Given the description of an element on the screen output the (x, y) to click on. 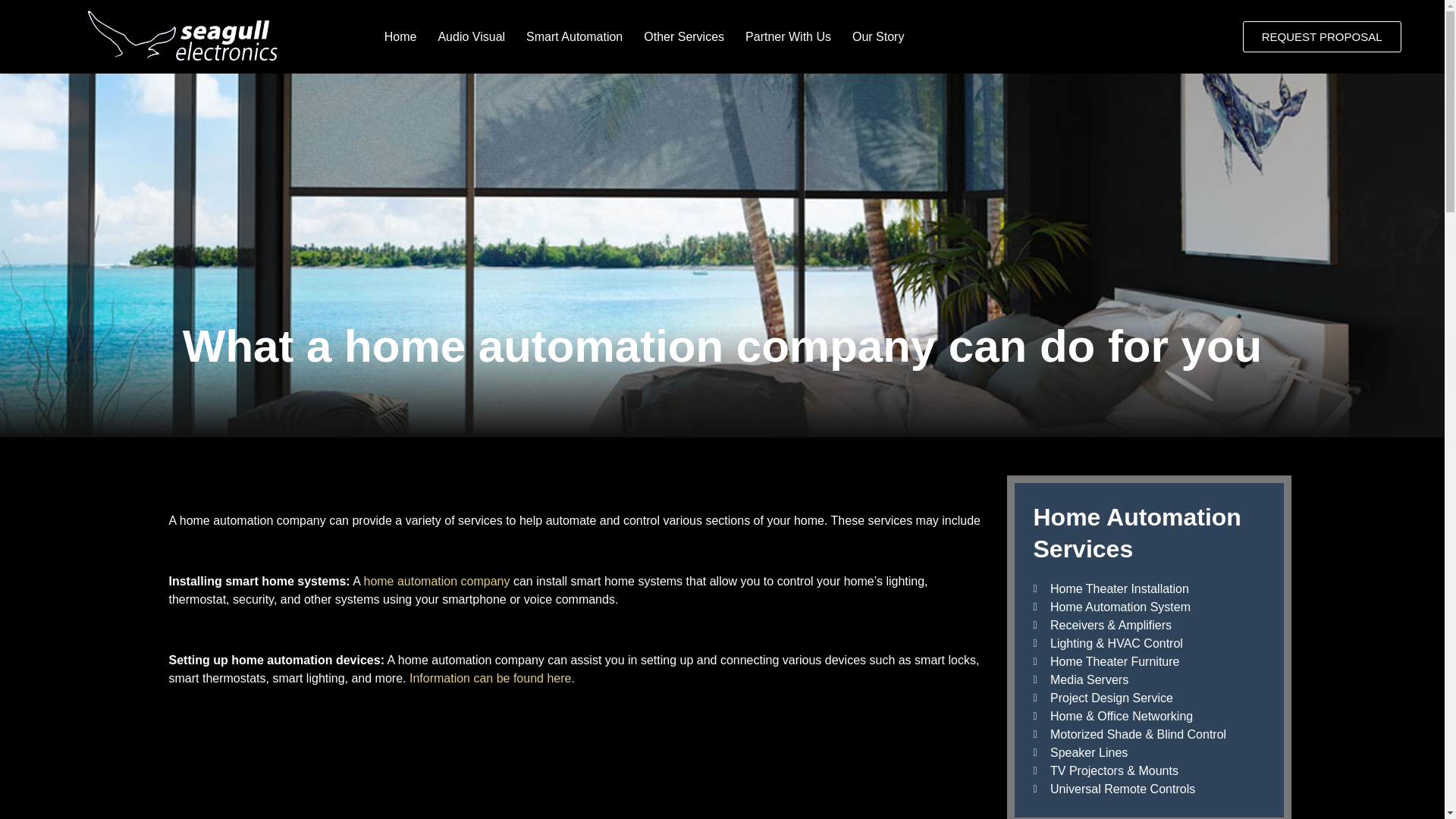
Home Theater Installation (1147, 588)
Our Story (877, 36)
Partner With Us (788, 36)
Project Design Service (1147, 698)
Home Theater Furniture (1147, 661)
Media Servers (1147, 679)
Information can be found here. (492, 677)
Home (401, 36)
home automation company (435, 581)
REQUEST PROPOSAL (1321, 36)
